Given the description of an element on the screen output the (x, y) to click on. 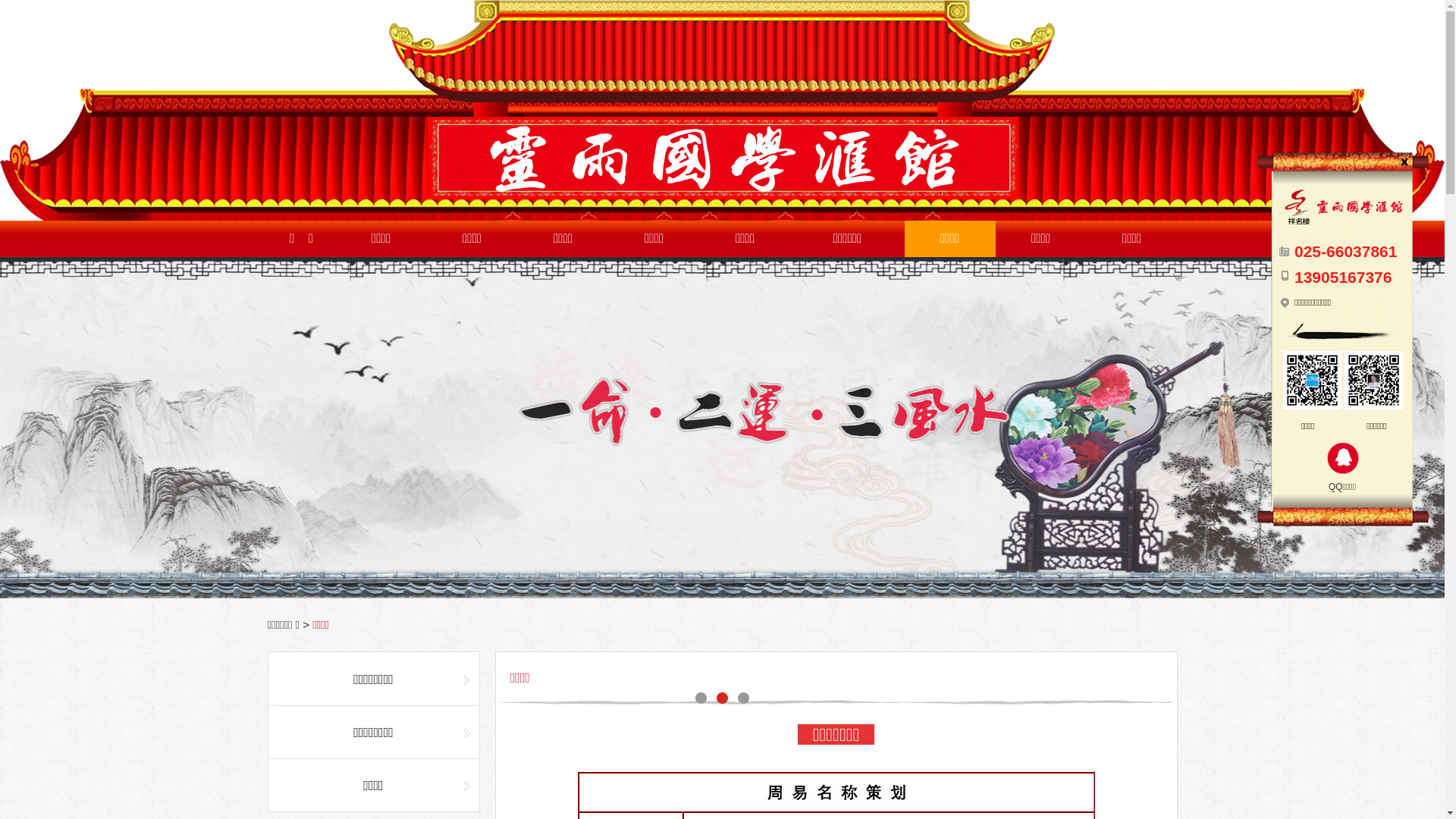
3 Element type: hover (722, 427)
